Given the description of an element on the screen output the (x, y) to click on. 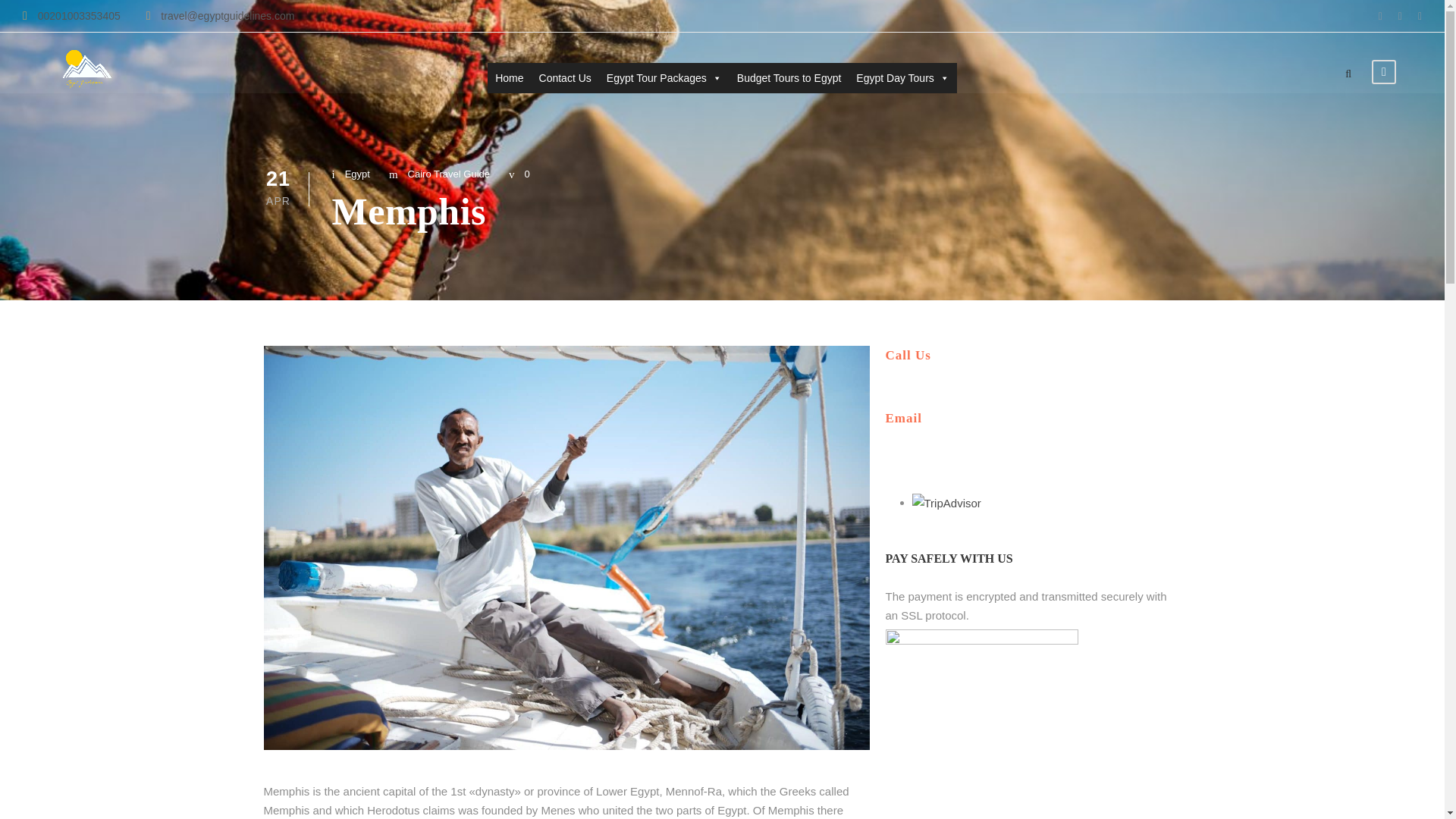
Posts by Egypt (357, 173)
Contact Us (564, 78)
Home (509, 78)
Egypt Day Tours (902, 78)
00201003353405 (71, 15)
instagram (1420, 15)
Cairo Travel Guide (448, 173)
Egypt (357, 173)
Budget Tours to Egypt (788, 78)
linkedin (1399, 15)
Egypt Tour Packages (663, 78)
facebook (1379, 15)
